Given the description of an element on the screen output the (x, y) to click on. 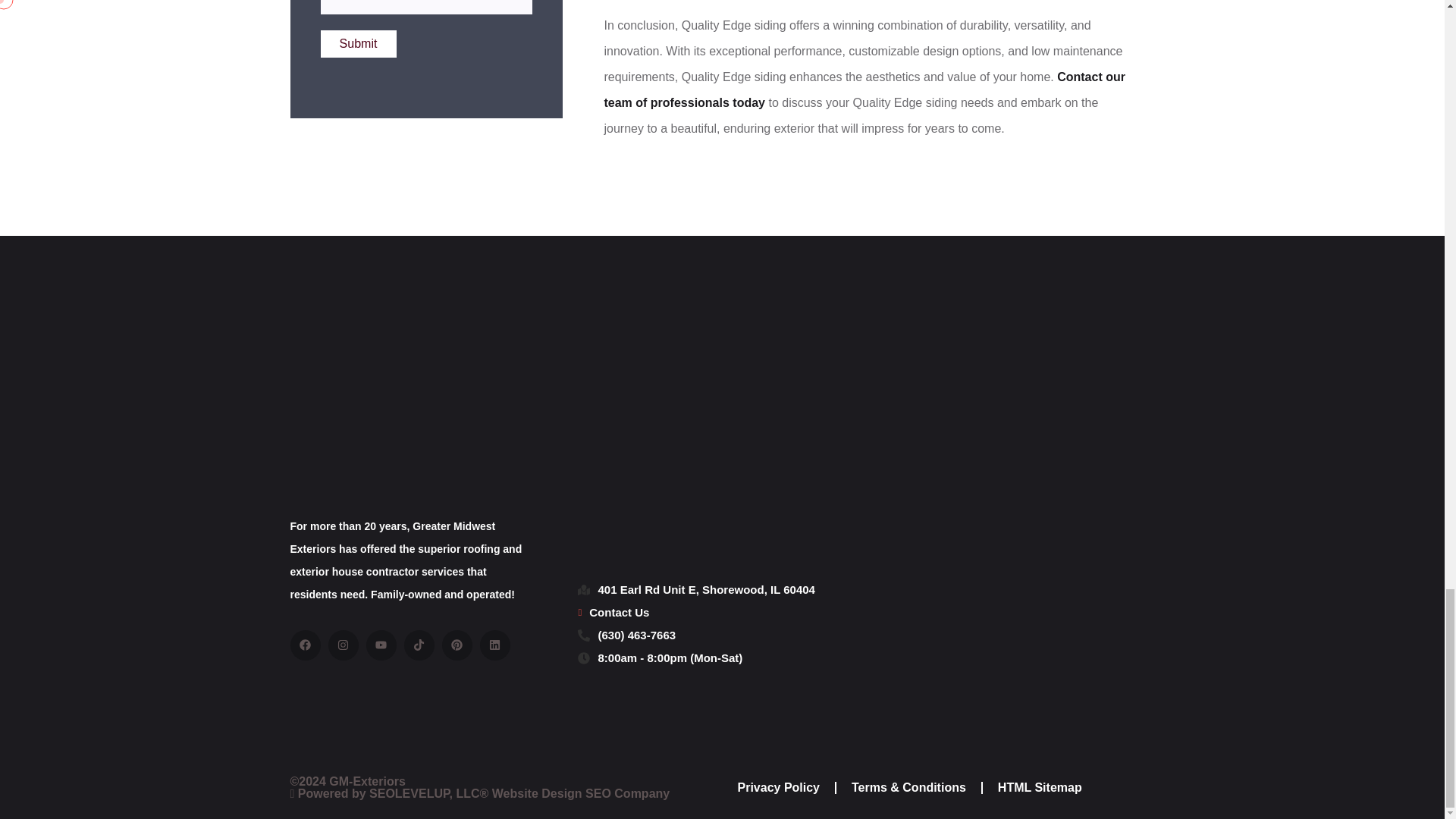
Submit (358, 43)
